Given the description of an element on the screen output the (x, y) to click on. 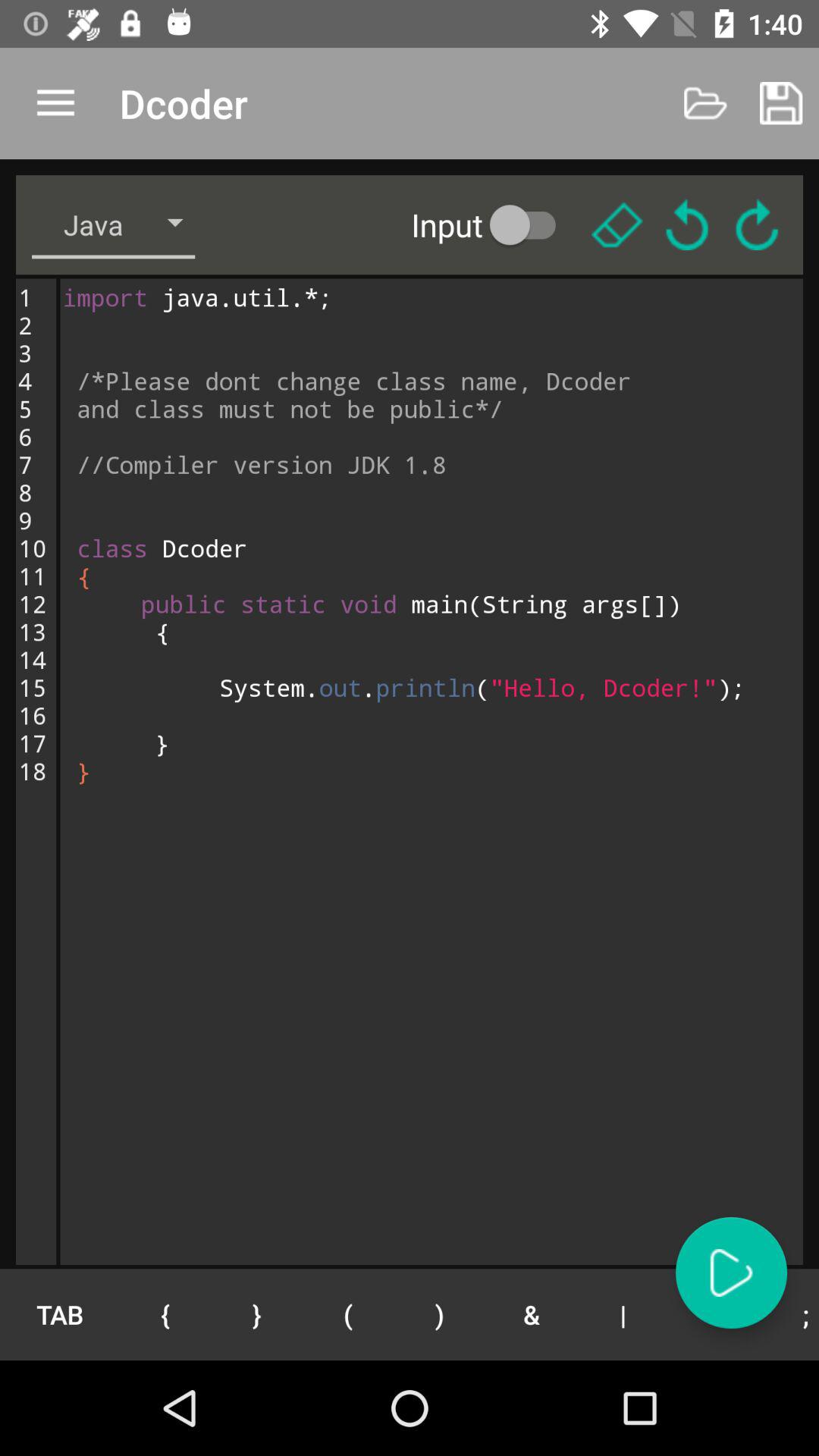
launch the icon at the top (494, 224)
